Given the description of an element on the screen output the (x, y) to click on. 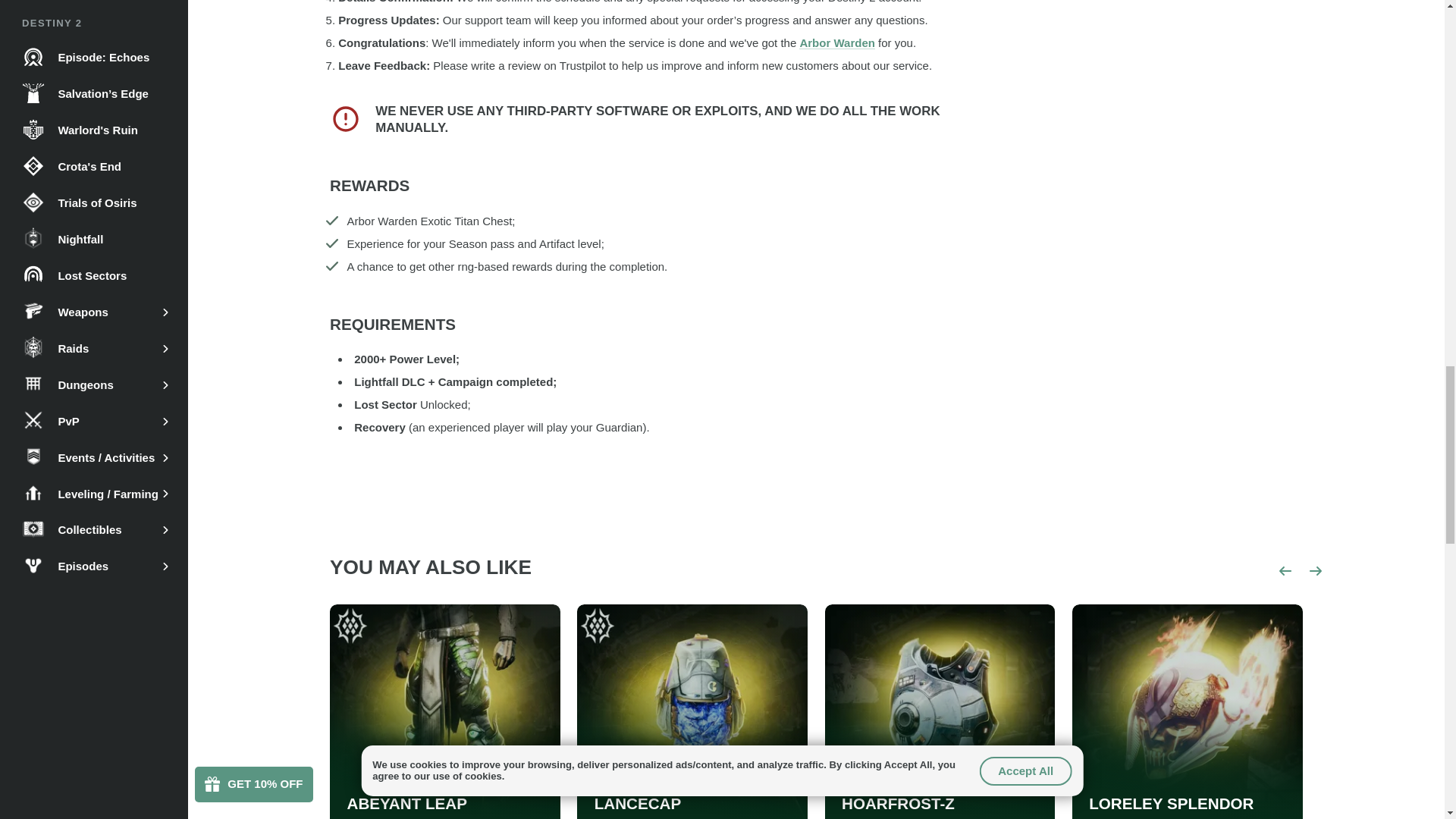
CADMUS RIDGE LANCECAP (692, 794)
ABEYANT LEAP (407, 804)
LORELEY SPLENDOR (1171, 804)
Arbor Warden (837, 42)
HOARFROST-Z (898, 804)
